Given the description of an element on the screen output the (x, y) to click on. 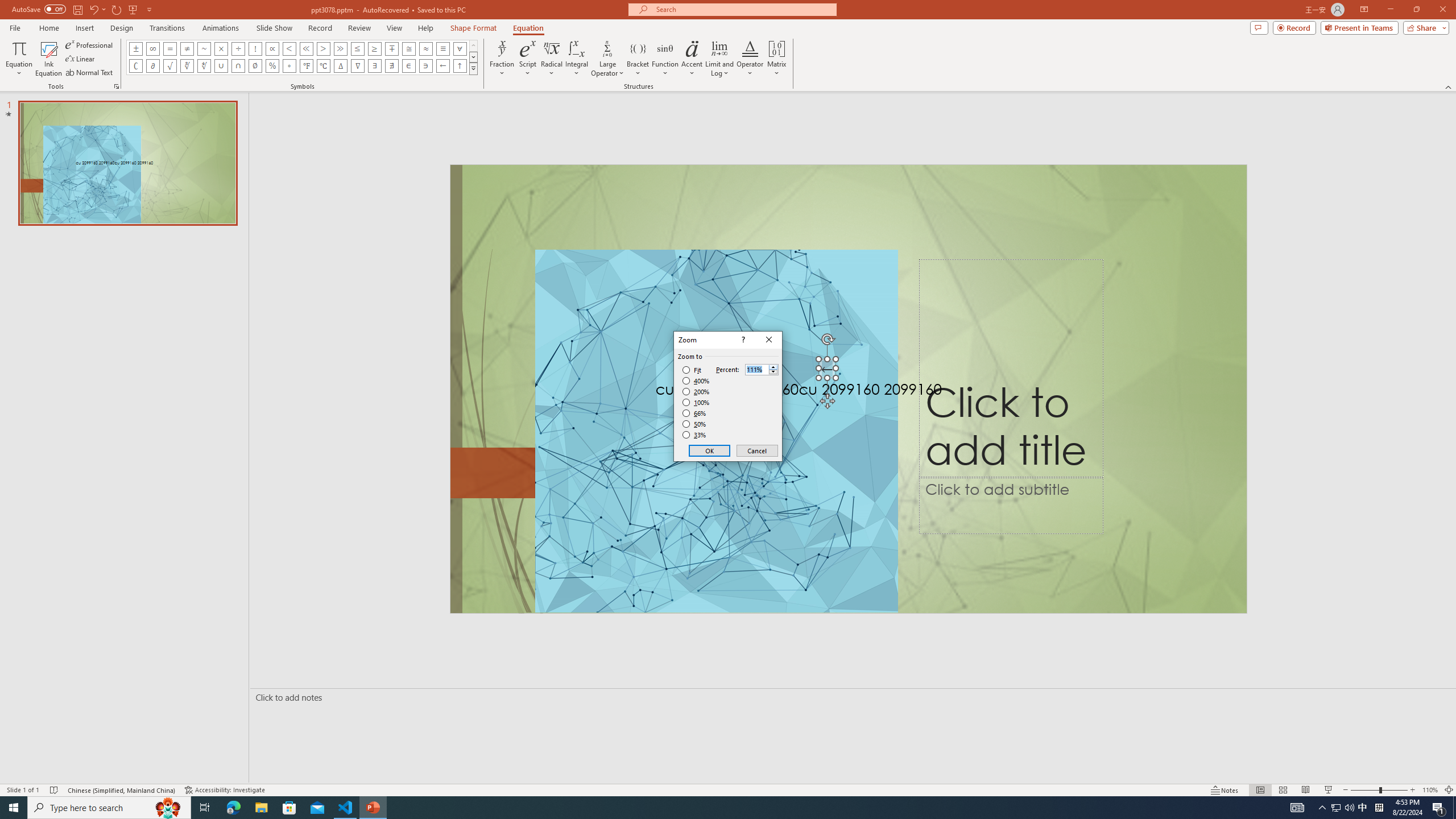
Equation Symbol Up Arrow (459, 65)
Equation Symbol Not Equal To (187, 48)
Equation Symbol There Exists (374, 65)
Equation Symbol Increment (340, 65)
Limit and Log (719, 58)
